Given the description of an element on the screen output the (x, y) to click on. 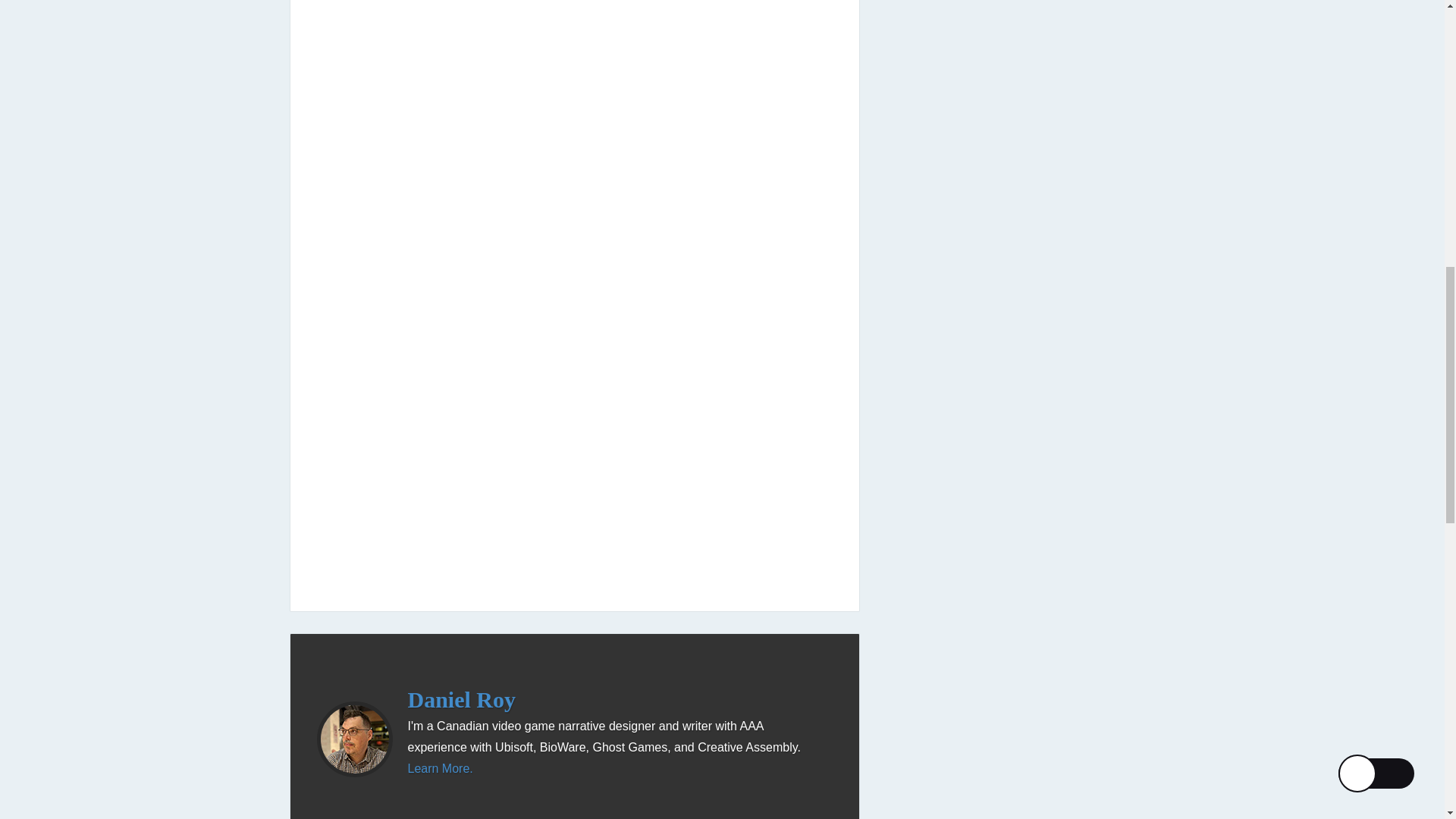
Learn More. (440, 768)
Posts by Daniel Roy (461, 699)
Daniel Roy (461, 699)
